Given the description of an element on the screen output the (x, y) to click on. 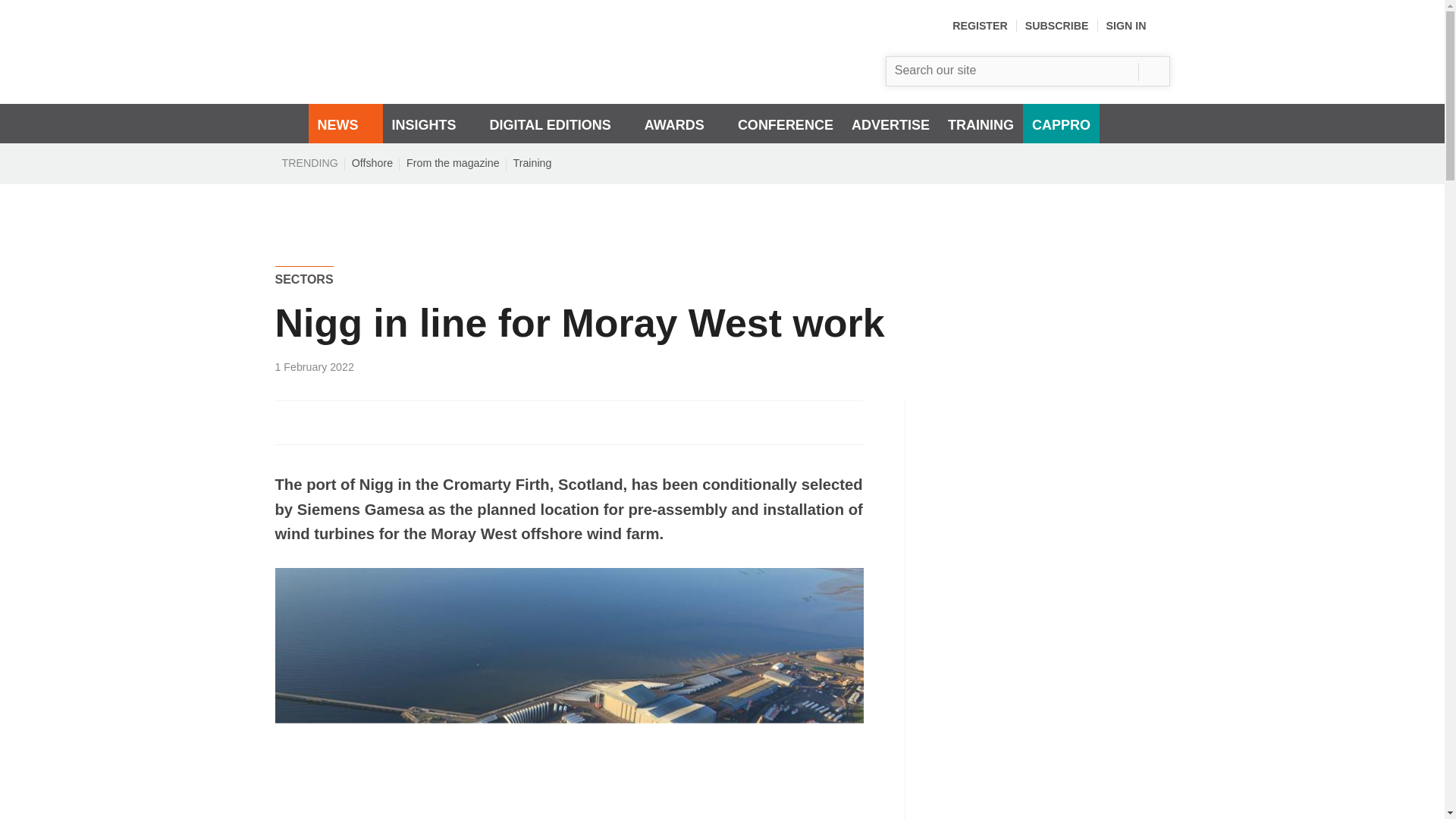
SIGN IN (1138, 25)
REGISTER (979, 25)
SUBSCRIBE (1057, 25)
Site name (457, 80)
Email this article (386, 421)
Share this on Twitter (320, 421)
Training (532, 162)
Share this on Linked in (352, 421)
From the magazine (452, 162)
Share this on Facebook (288, 421)
